Given the description of an element on the screen output the (x, y) to click on. 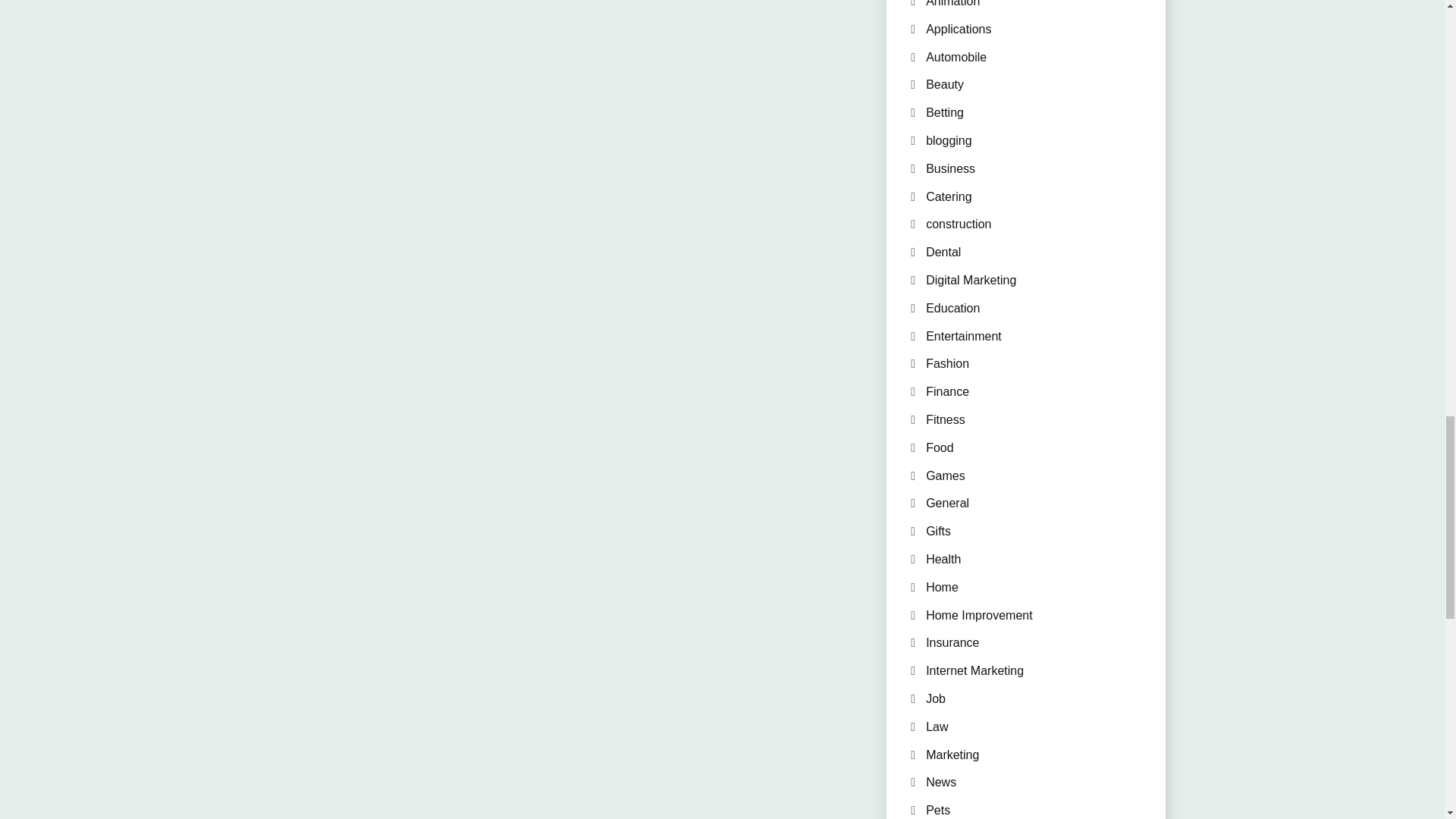
Applications (958, 29)
Animation (952, 3)
Automobile (956, 56)
